Given the description of an element on the screen output the (x, y) to click on. 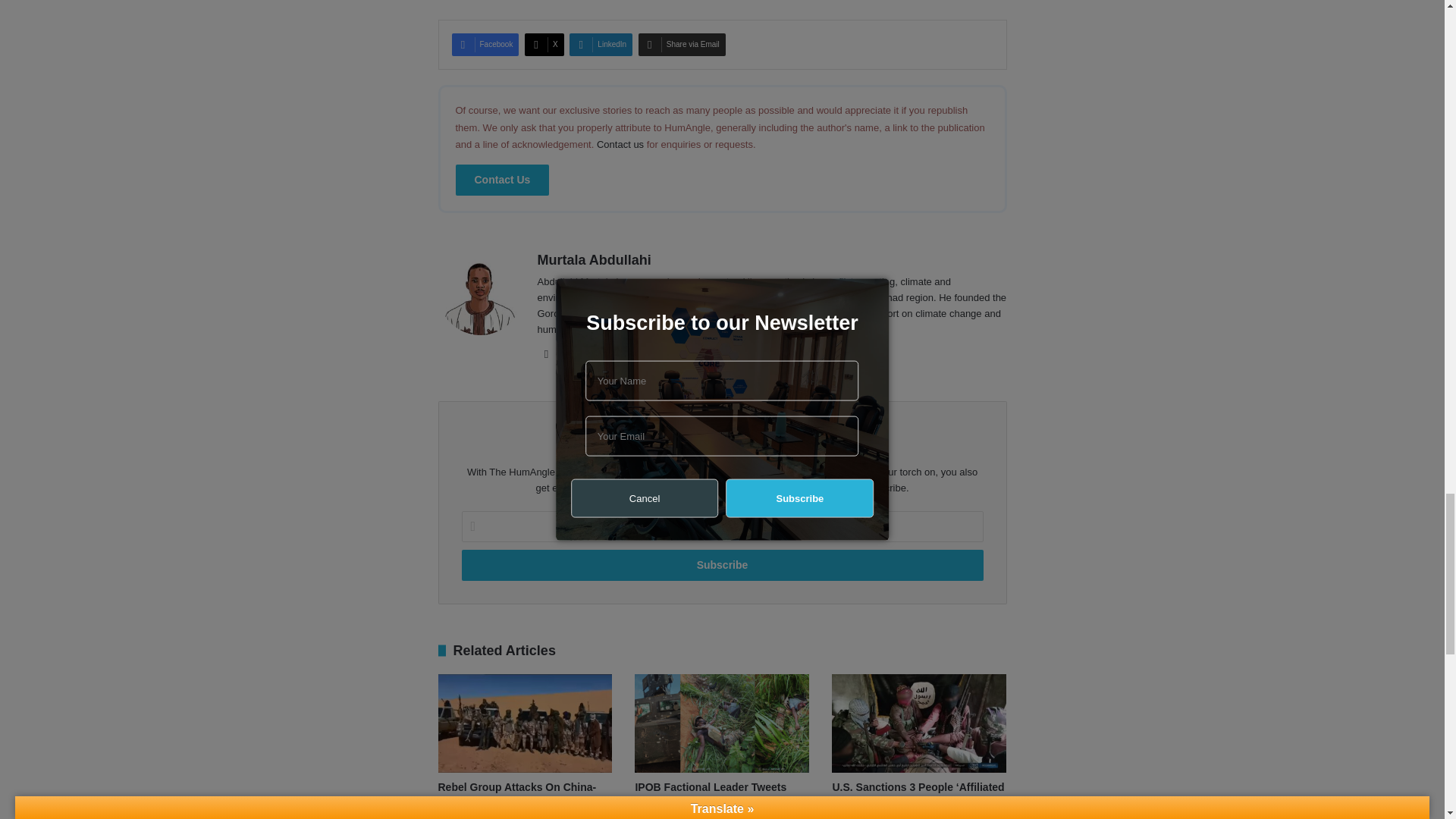
Subscribe (721, 564)
